Given the description of an element on the screen output the (x, y) to click on. 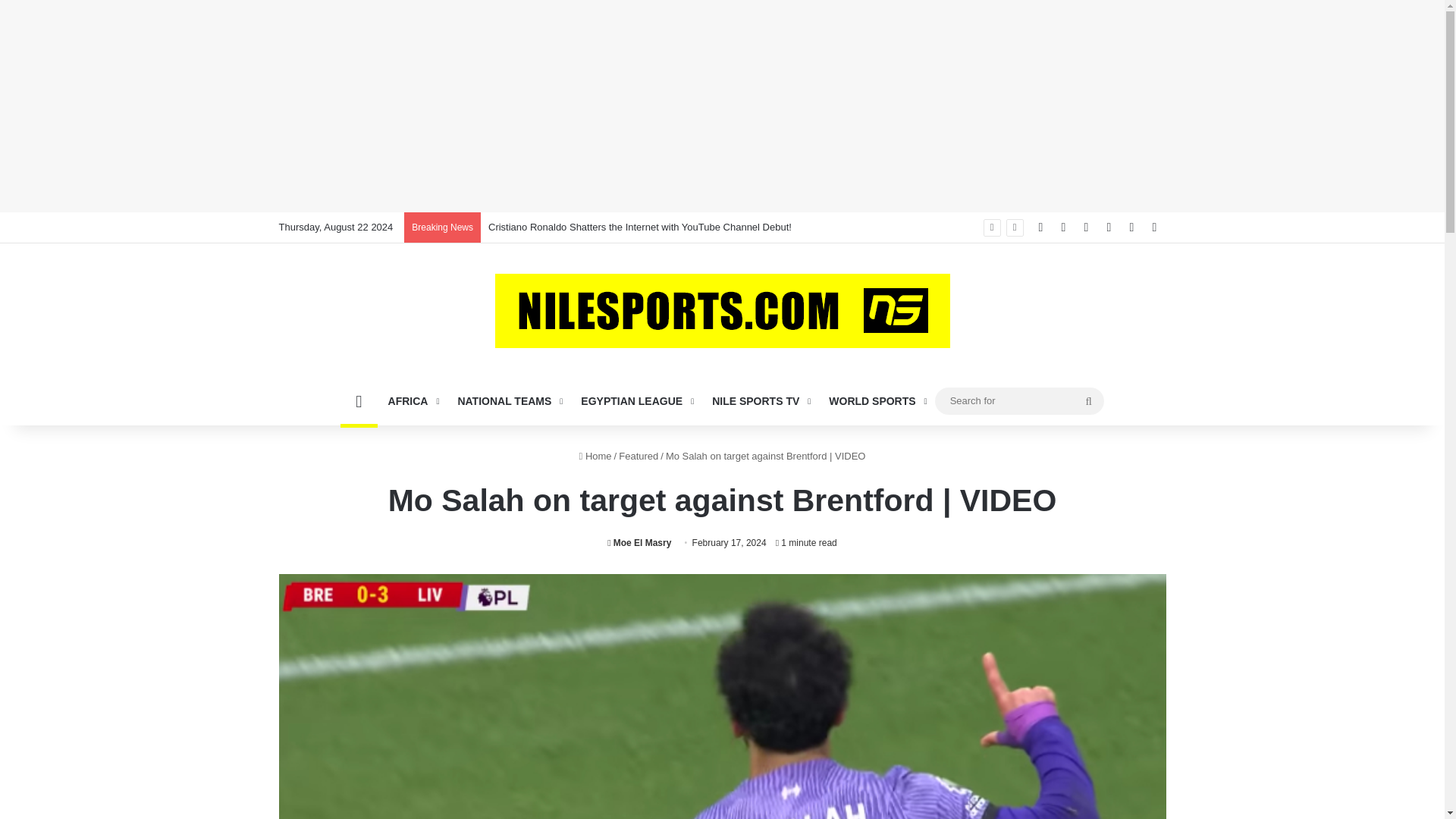
NATIONAL TEAMS (508, 401)
Moe El Masry (639, 542)
Egyptian National Football Team (508, 401)
NileSports.com (722, 310)
NILE SPORTS TV (759, 401)
Search for (1018, 400)
Egyptian Premier League (635, 401)
World Football News (876, 401)
AFRICA (411, 401)
